Given the description of an element on the screen output the (x, y) to click on. 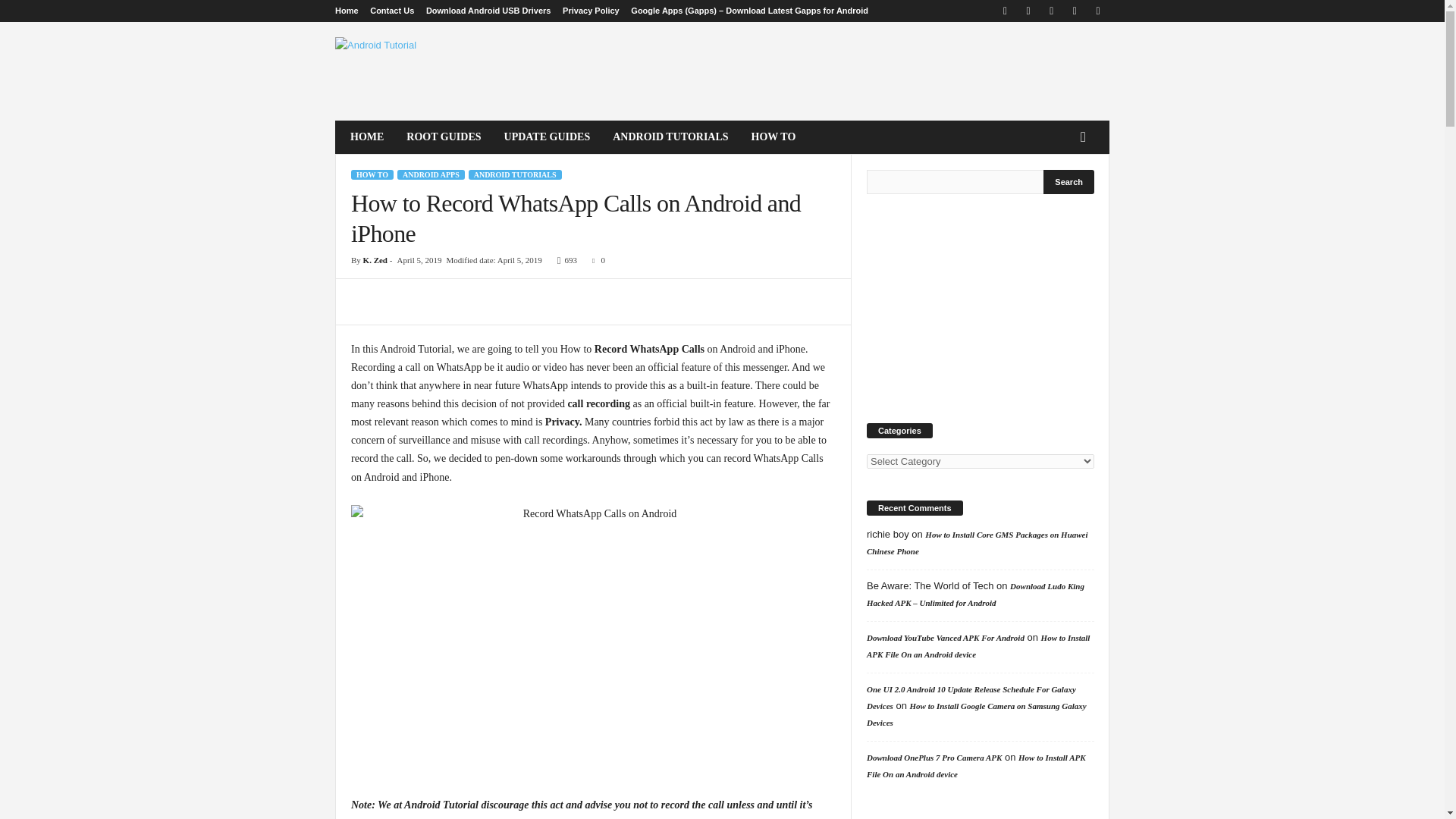
Home (346, 10)
ANDROID APPS (430, 174)
HOW TO (371, 174)
0 (595, 259)
ANDROID TUTORIALS (670, 136)
K. Zed (374, 259)
ROOT GUIDES (443, 136)
Android Tutorial (437, 70)
Contact Us (391, 10)
UPDATE GUIDES (547, 136)
